Given the description of an element on the screen output the (x, y) to click on. 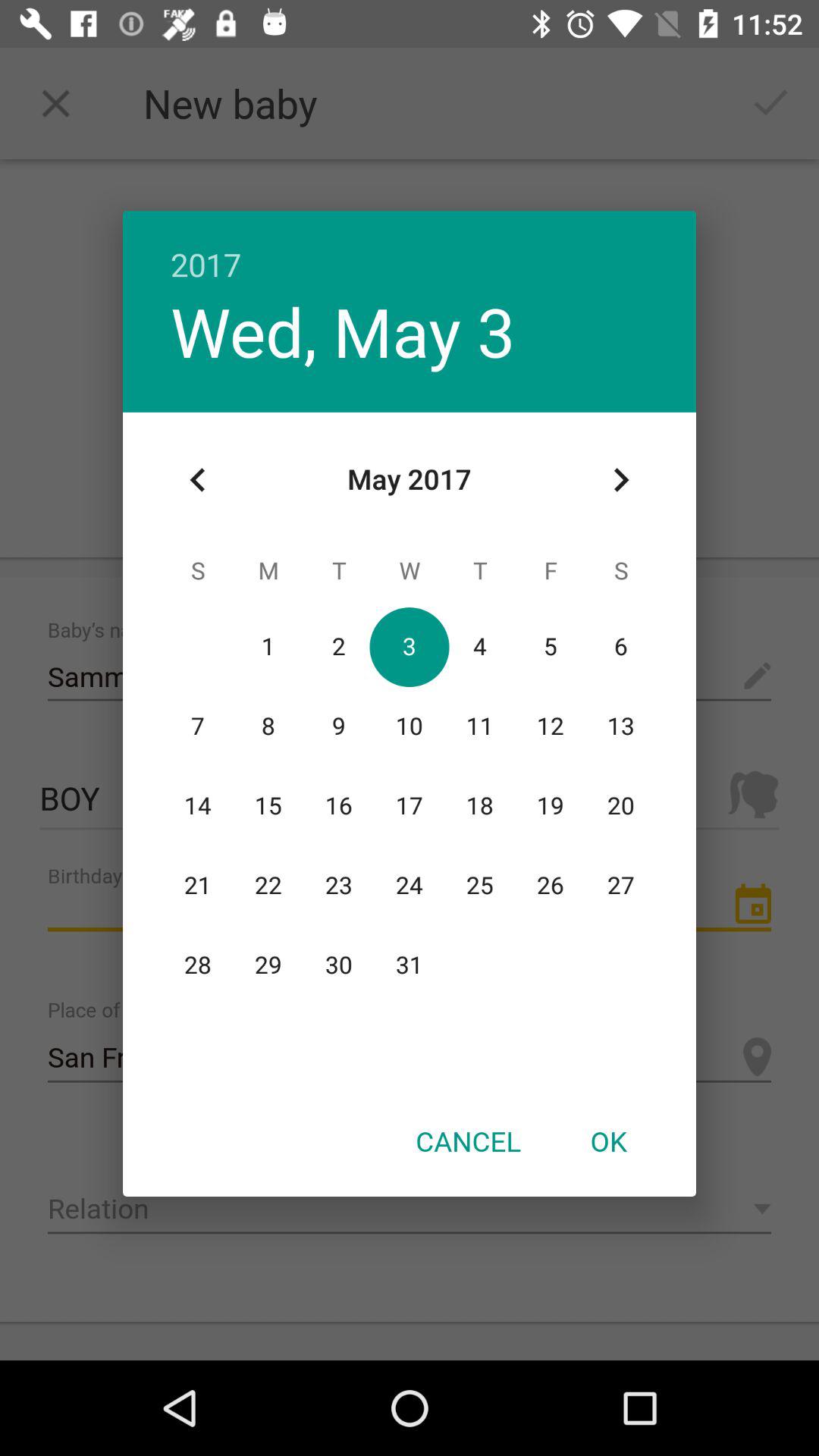
choose 2017 item (409, 248)
